Given the description of an element on the screen output the (x, y) to click on. 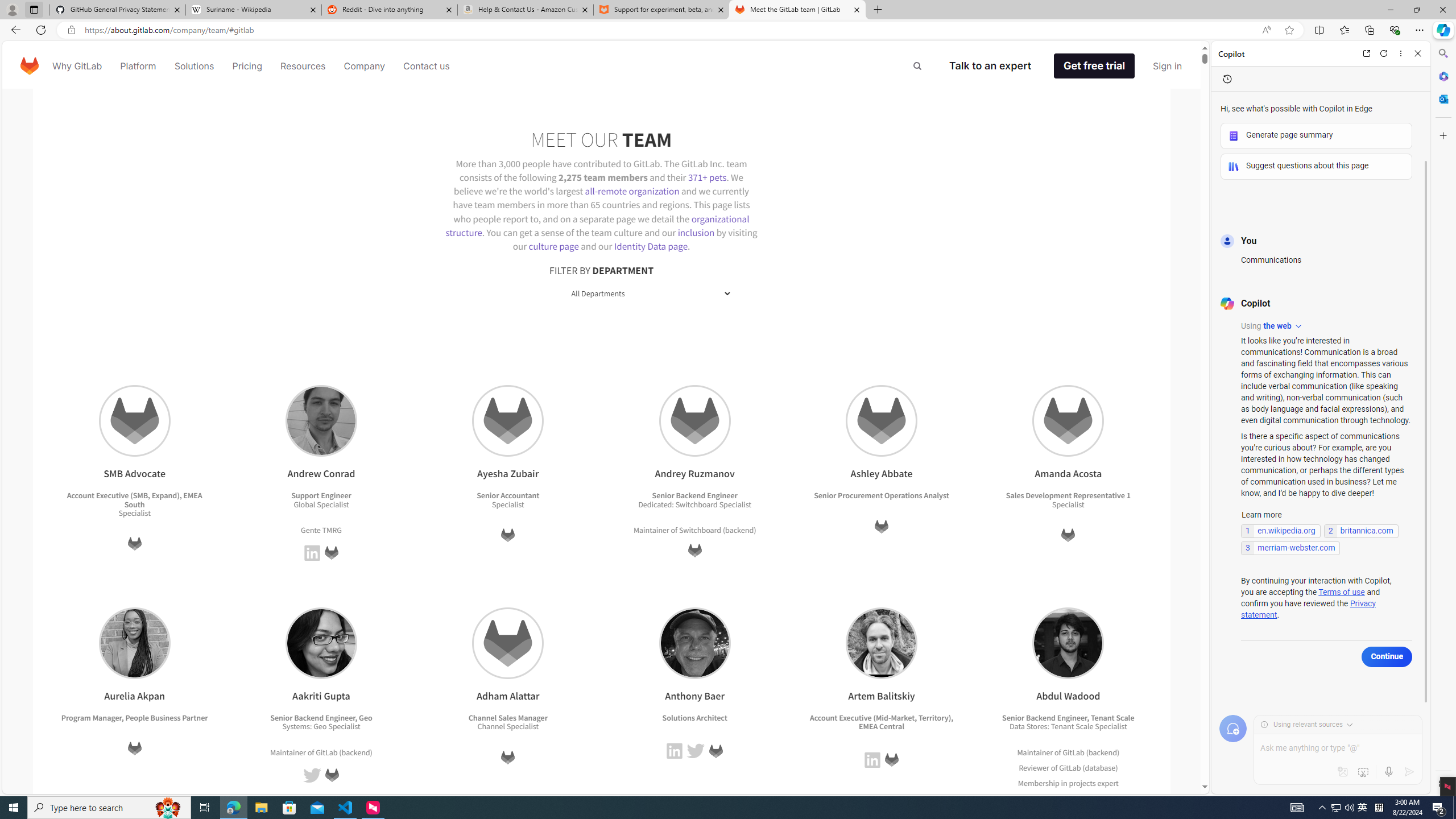
Gente TMRG (321, 529)
Platform (138, 65)
371+ pets (706, 176)
Abdul Wadood (1068, 642)
Solutions (193, 65)
GitLab (1069, 767)
Sales Development Representative 1 (1068, 495)
AutomationID: navigation (601, 64)
Anthony Baer (694, 642)
Aurelia Akpan (134, 642)
Reviewer (1034, 767)
Ashley Abbate (880, 420)
